Given the description of an element on the screen output the (x, y) to click on. 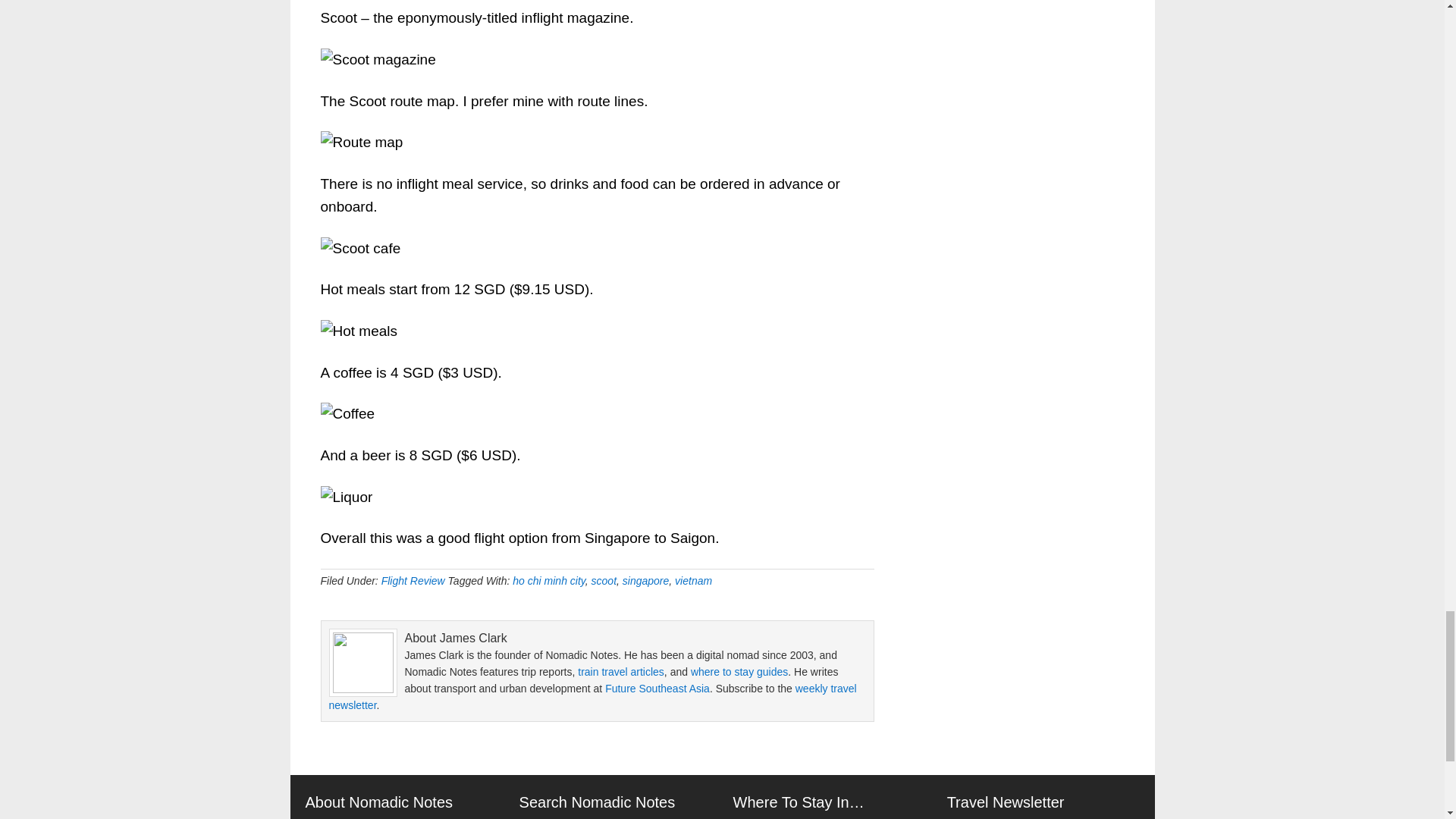
weekly travel newsletter (593, 696)
where to stay guides (738, 671)
singapore (646, 580)
Future Southeast Asia (657, 688)
ho chi minh city (548, 580)
train travel articles (620, 671)
scoot (603, 580)
vietnam (693, 580)
Flight Review (413, 580)
